Given the description of an element on the screen output the (x, y) to click on. 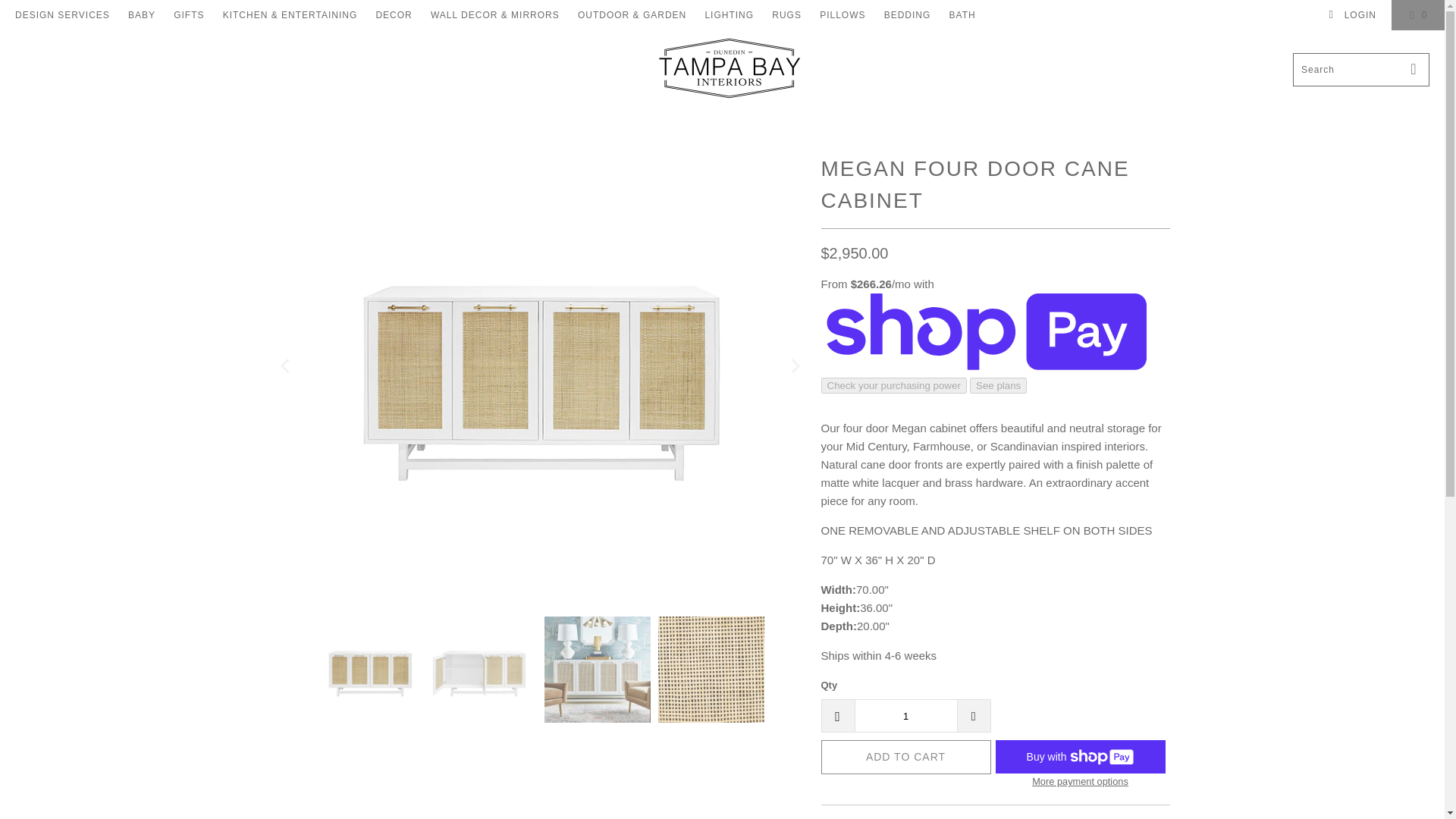
BABY (141, 15)
BEDDING (907, 15)
GIFTS (188, 15)
Tampa Bay Interiors (727, 68)
RUGS (786, 15)
DECOR (393, 15)
My Account  (1351, 15)
LIGHTING (729, 15)
1 (904, 715)
PILLOWS (841, 15)
LOGIN (1351, 15)
DESIGN SERVICES (62, 15)
